Given the description of an element on the screen output the (x, y) to click on. 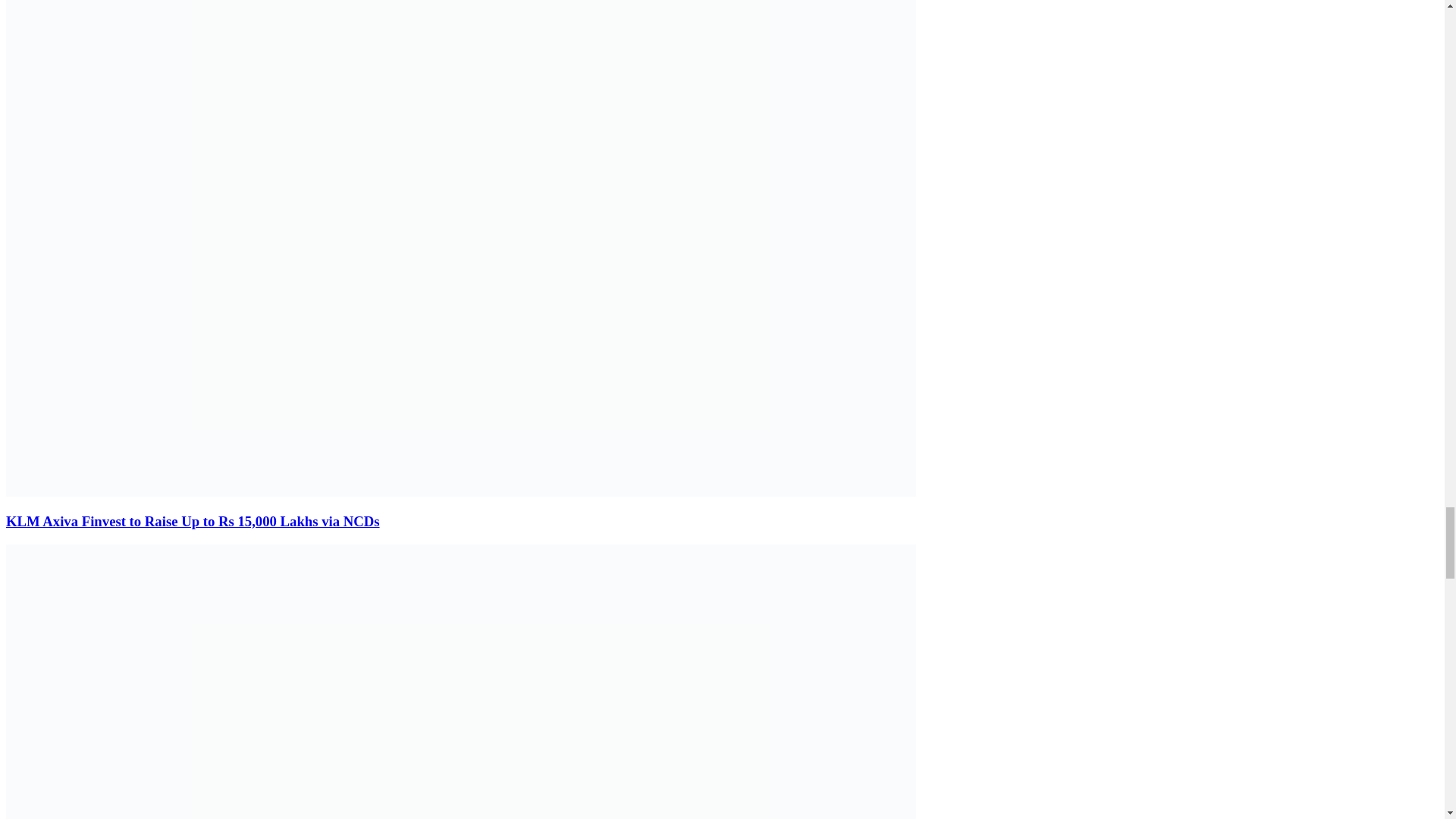
KLM Axiva Finvest to Raise Up to Rs 15,000 Lakhs via NCDs (192, 521)
